Given the description of an element on the screen output the (x, y) to click on. 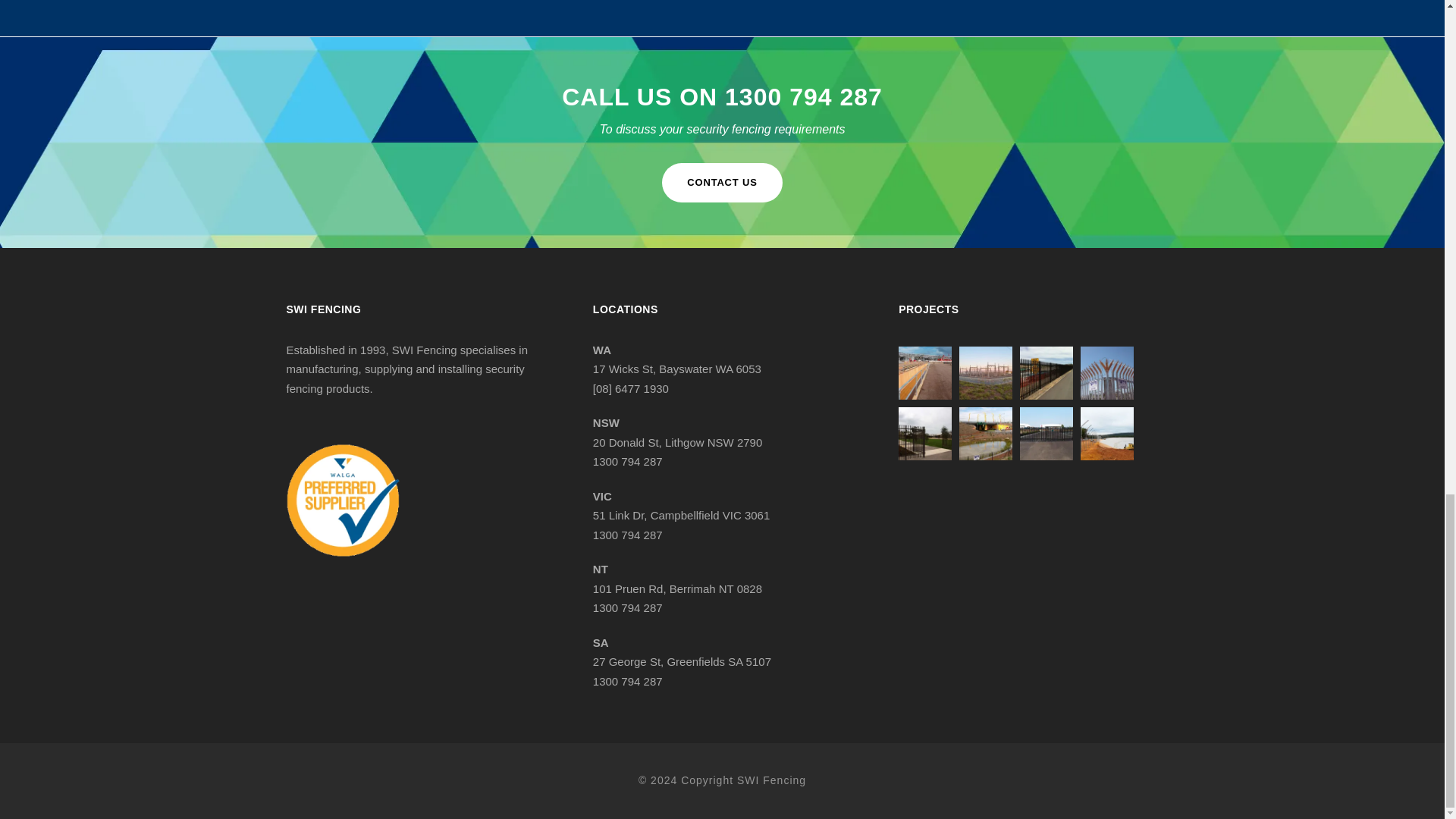
Garrison security fencing and gates (925, 433)
horizon-power-west-pilbara-substation-2 (985, 372)
Binningup Desalination Plant high security palisade fencing (1046, 372)
INPEX Icthys LNG facilities handrail (925, 372)
Great Eastern and Roe Hwy Interchange chainmesh fencing (985, 433)
North Bannister Waste Facility security fencing (1107, 433)
Wedgefield Substation palisade fencing (1107, 372)
